Given the description of an element on the screen output the (x, y) to click on. 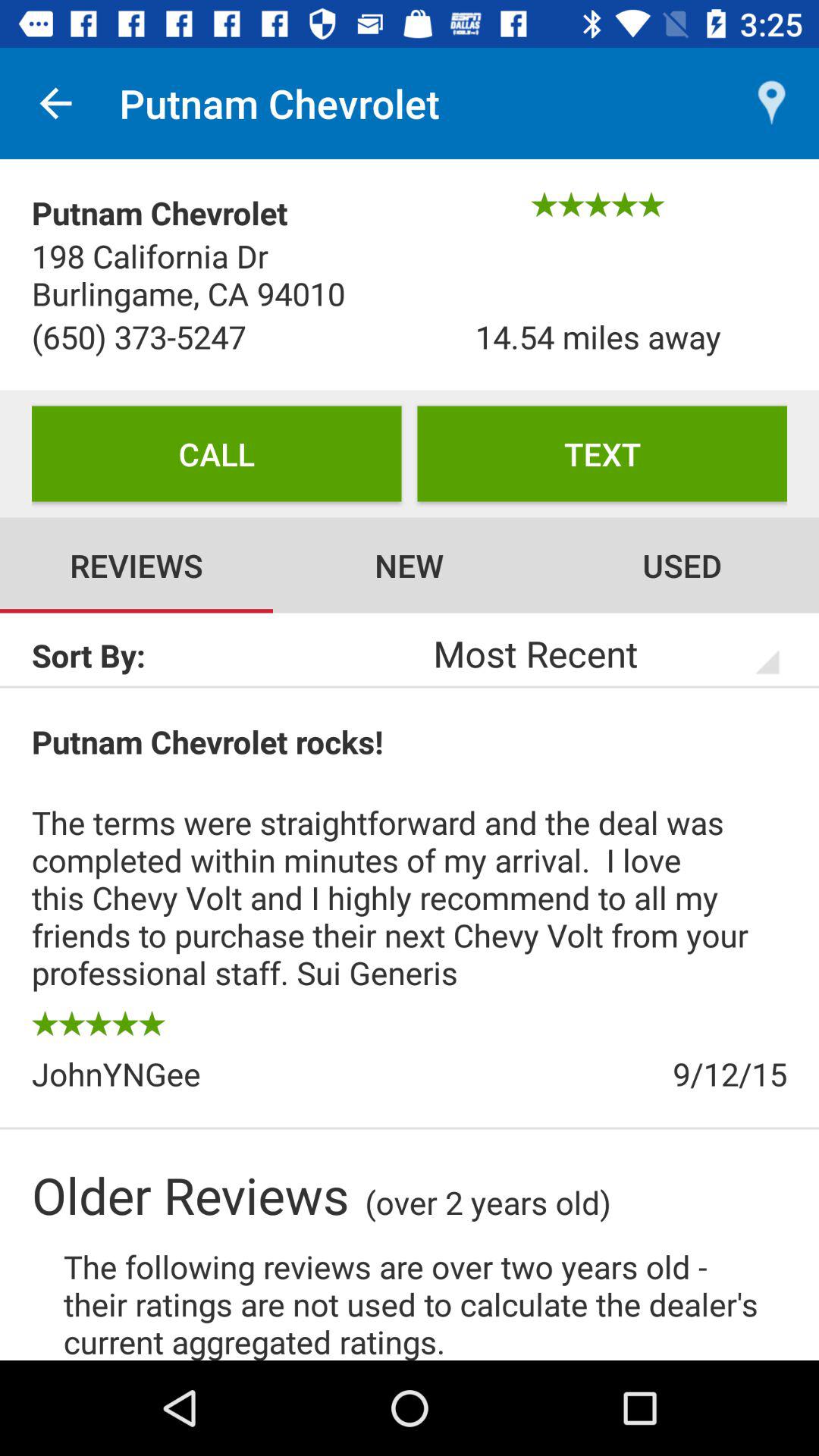
click icon next to call item (602, 453)
